Given the description of an element on the screen output the (x, y) to click on. 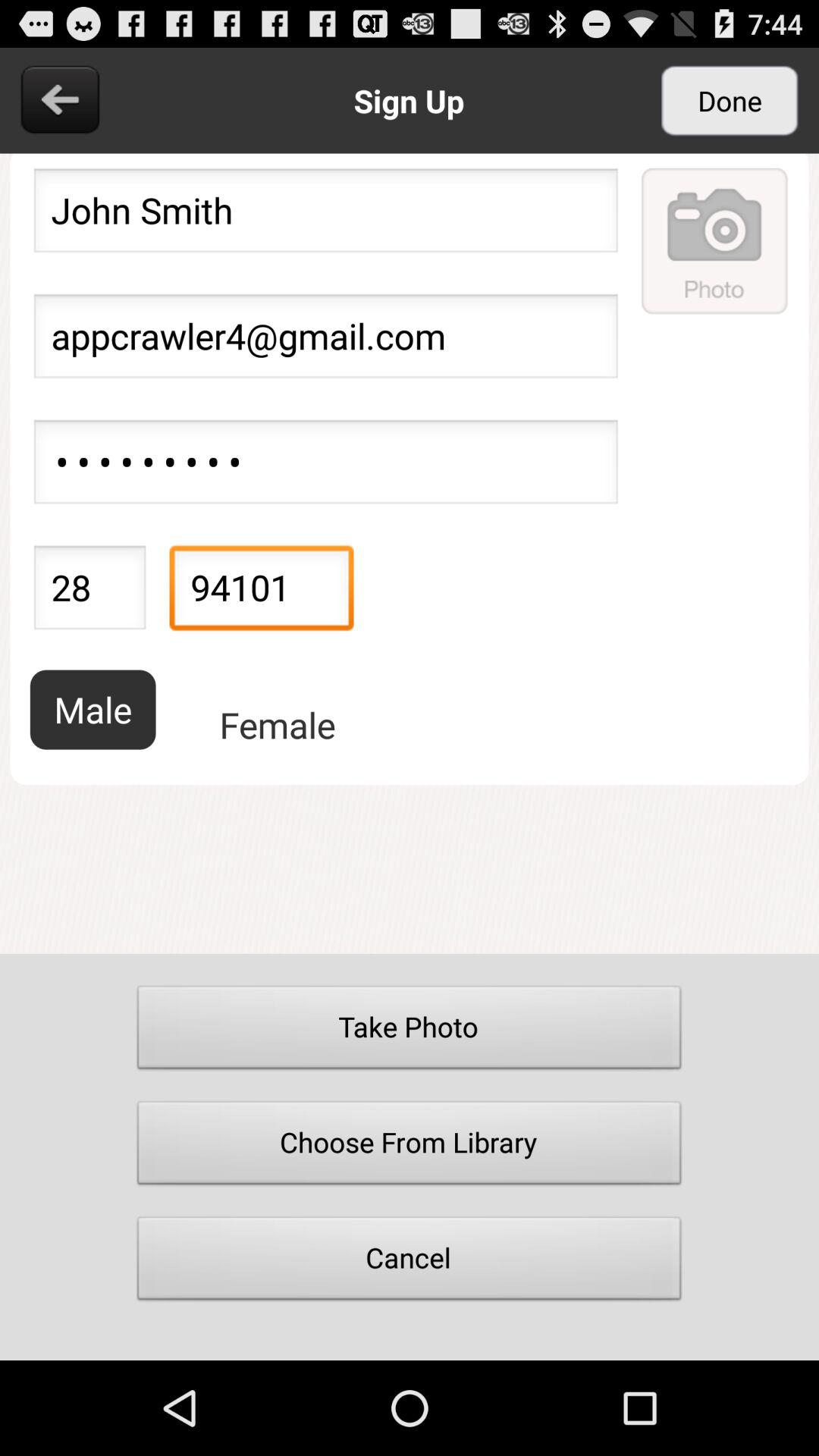
add a photo (714, 240)
